Given the description of an element on the screen output the (x, y) to click on. 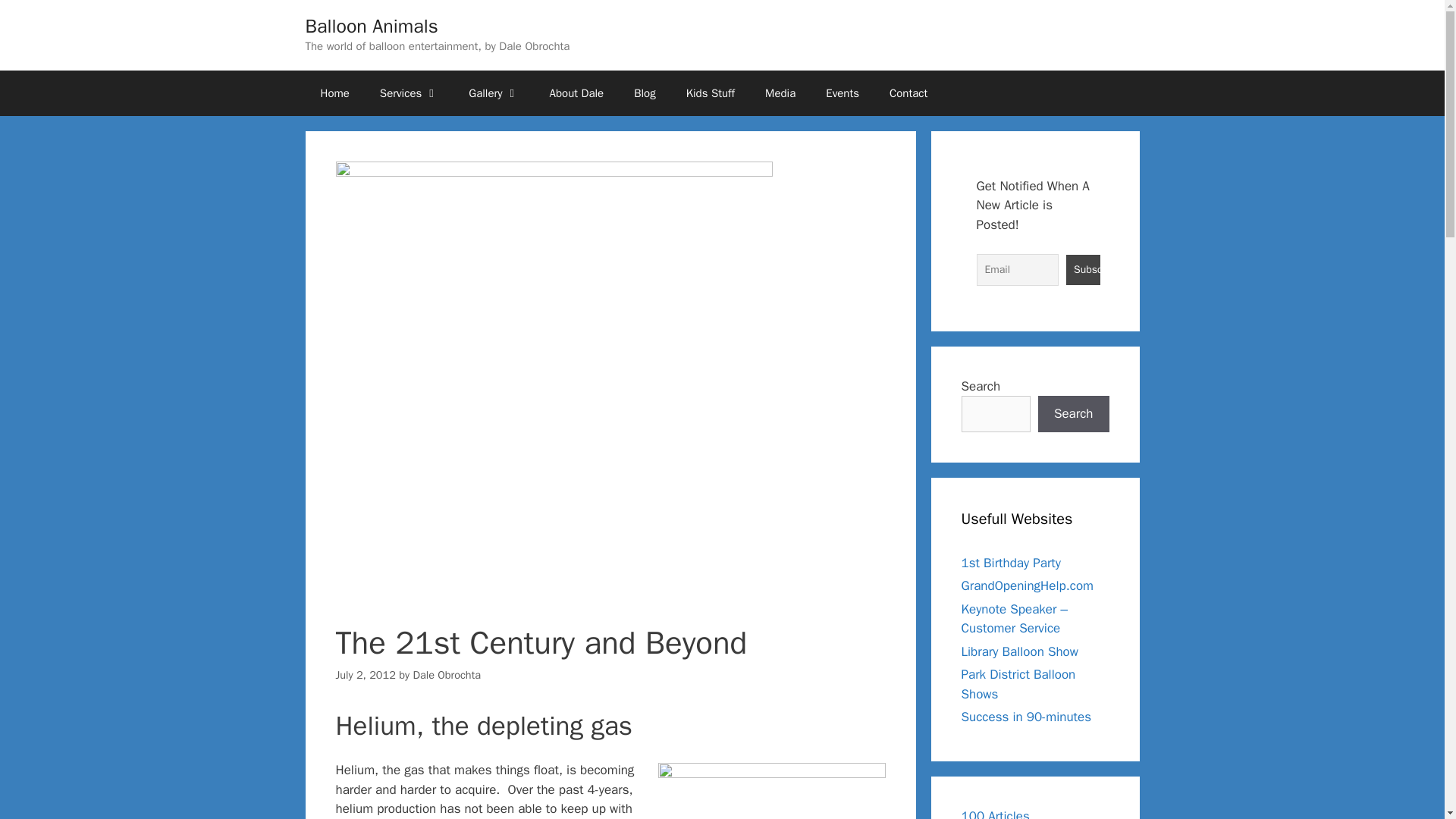
Balloon Animals (371, 25)
View all posts by Dale Obrochta (446, 674)
Blog (643, 92)
Dale Obrochta (446, 674)
Kids Stuff (710, 92)
Media (779, 92)
Events (842, 92)
Balloon Entertainer for 1st Birthday Parties (1010, 562)
Services (408, 92)
Home (334, 92)
